Given the description of an element on the screen output the (x, y) to click on. 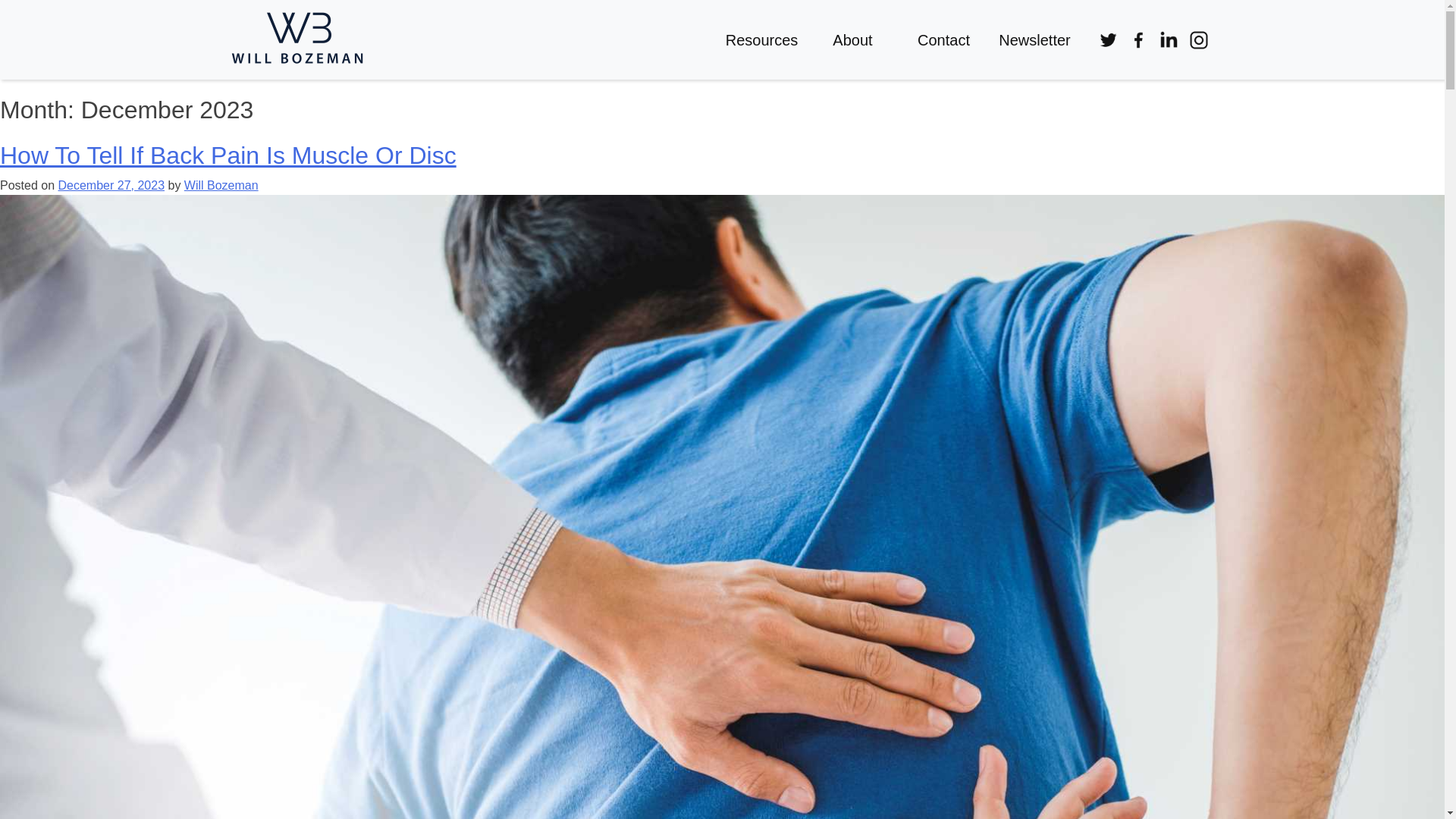
About (852, 39)
December 27, 2023 (111, 185)
How To Tell If Back Pain Is Muscle Or Disc (228, 154)
Newsletter (1034, 39)
Contact (943, 39)
Will Bozeman (221, 185)
Resources (761, 39)
